Given the description of an element on the screen output the (x, y) to click on. 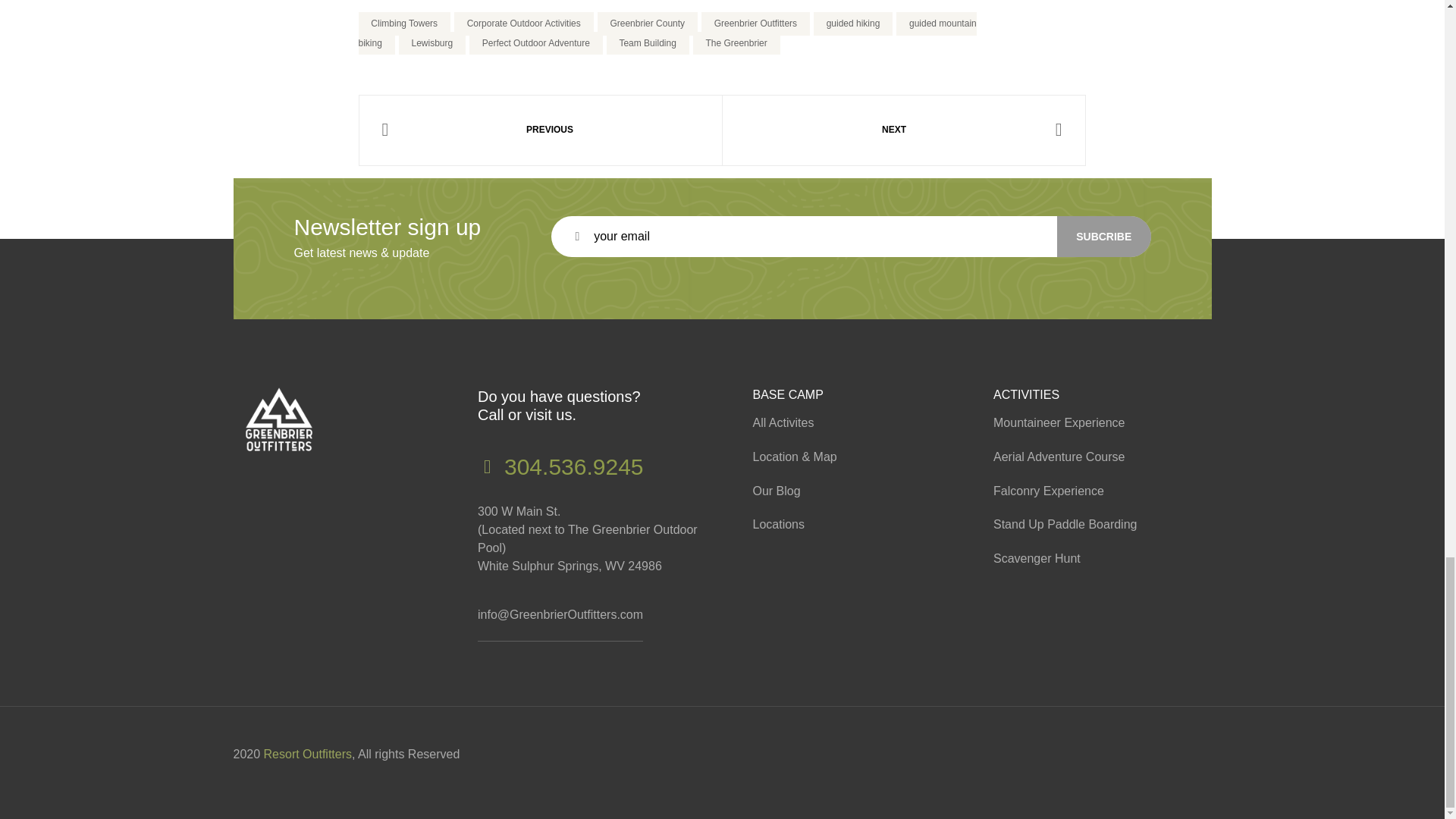
Climbing Towers (403, 24)
Greenbrier Outfitters (755, 24)
Lewisburg (431, 43)
Greenbrier County (646, 24)
guided hiking (852, 24)
Corporate Outdoor Activities (524, 24)
guided mountain biking (666, 33)
